Given the description of an element on the screen output the (x, y) to click on. 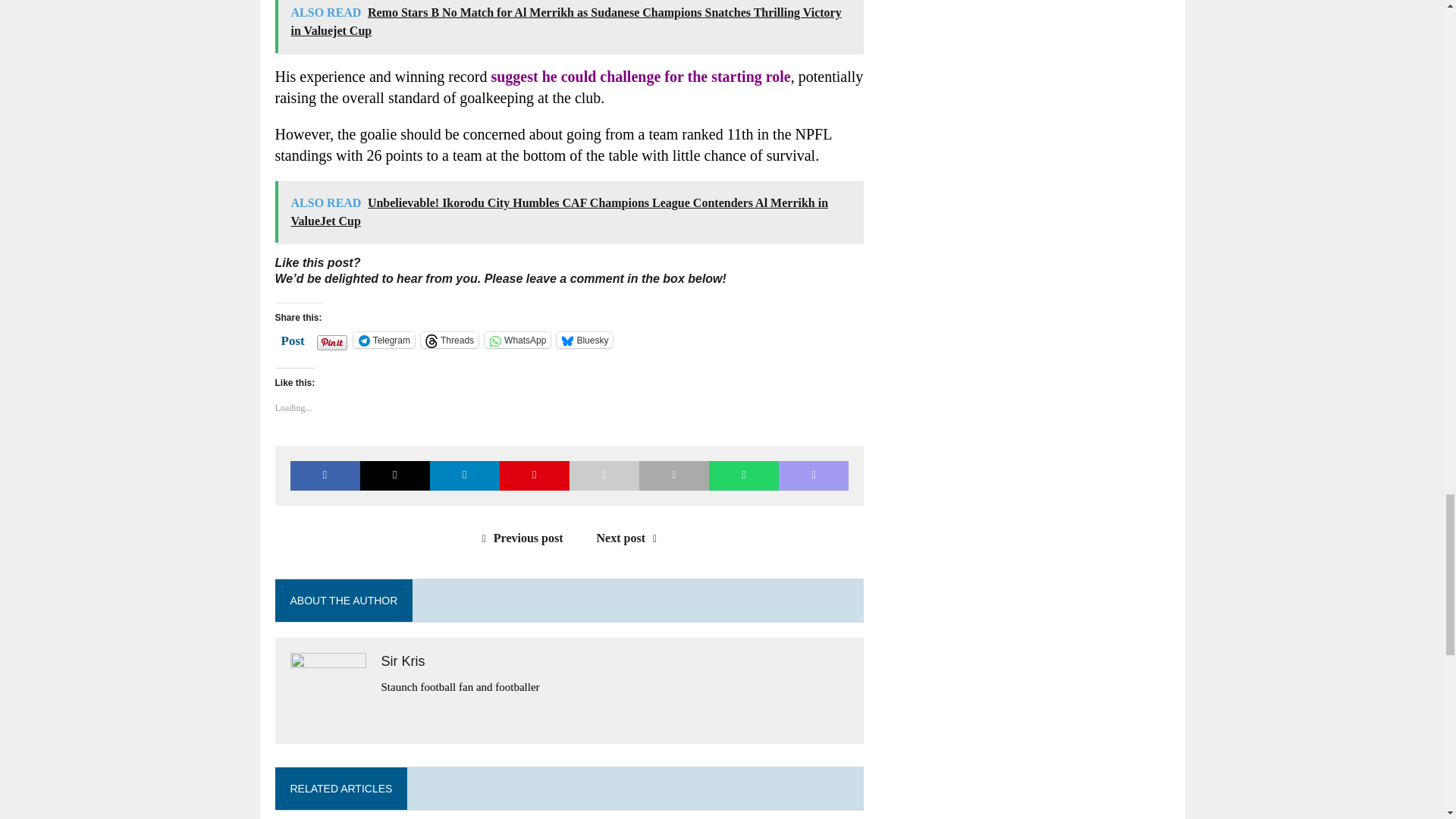
Share on Facebook (324, 475)
WhatsApp (517, 340)
Print this article (674, 475)
Share on LinkedIn (464, 475)
Pin This Post (534, 475)
Threads (449, 340)
Telegram (383, 340)
Share on Whatsapp (743, 475)
Click to share on Bluesky (584, 340)
Send this article to a friend (604, 475)
Post (292, 338)
Click to share on Telegram (383, 340)
Click to share on Threads (449, 340)
